Given the description of an element on the screen output the (x, y) to click on. 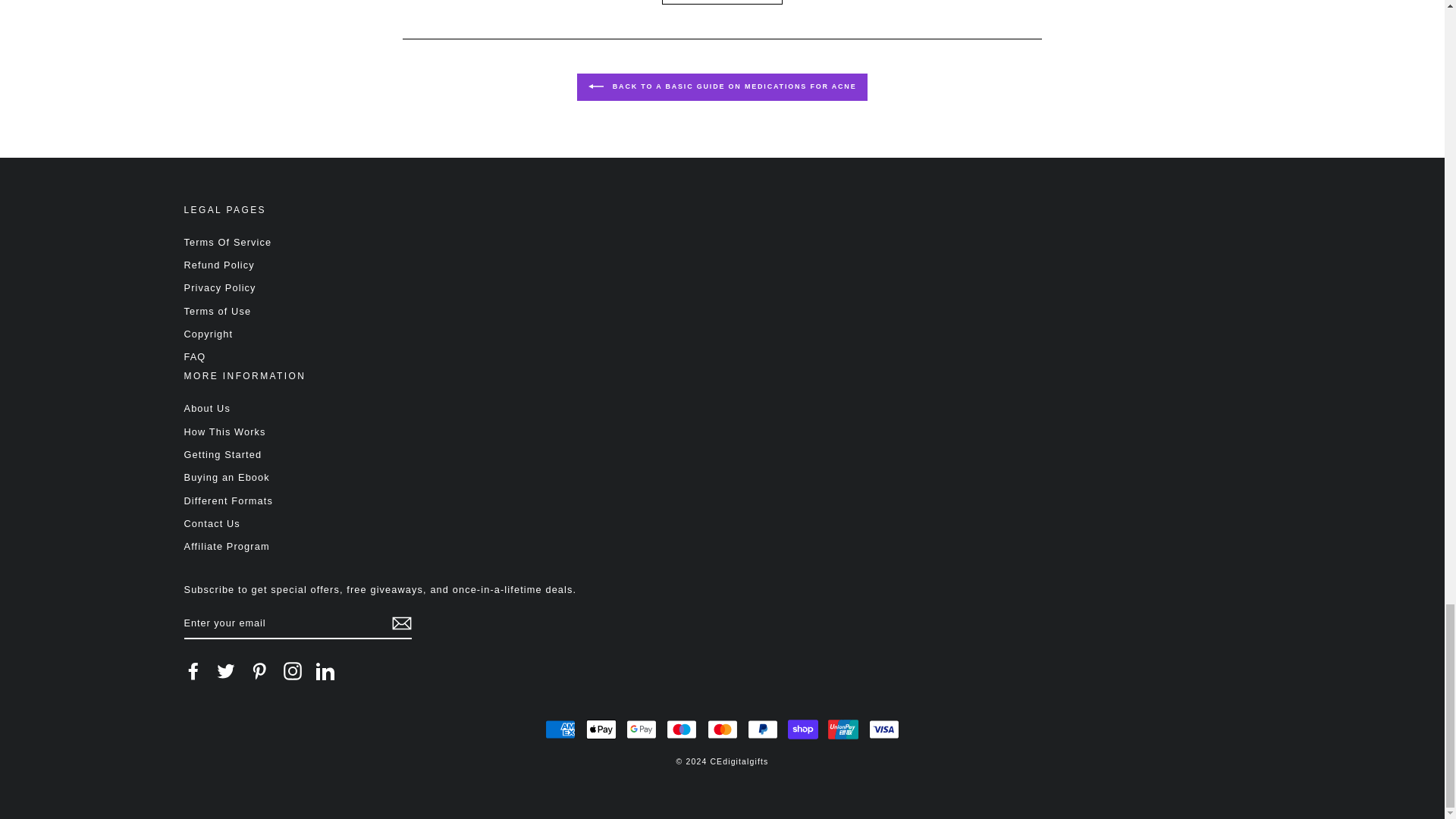
Apple Pay (600, 729)
CEdigitalgifts  on Instagram (292, 670)
CEdigitalgifts  on Twitter (225, 670)
CEdigitalgifts  on Facebook (192, 670)
CEdigitalgifts  on Pinterest (258, 670)
American Express (559, 729)
